Given the description of an element on the screen output the (x, y) to click on. 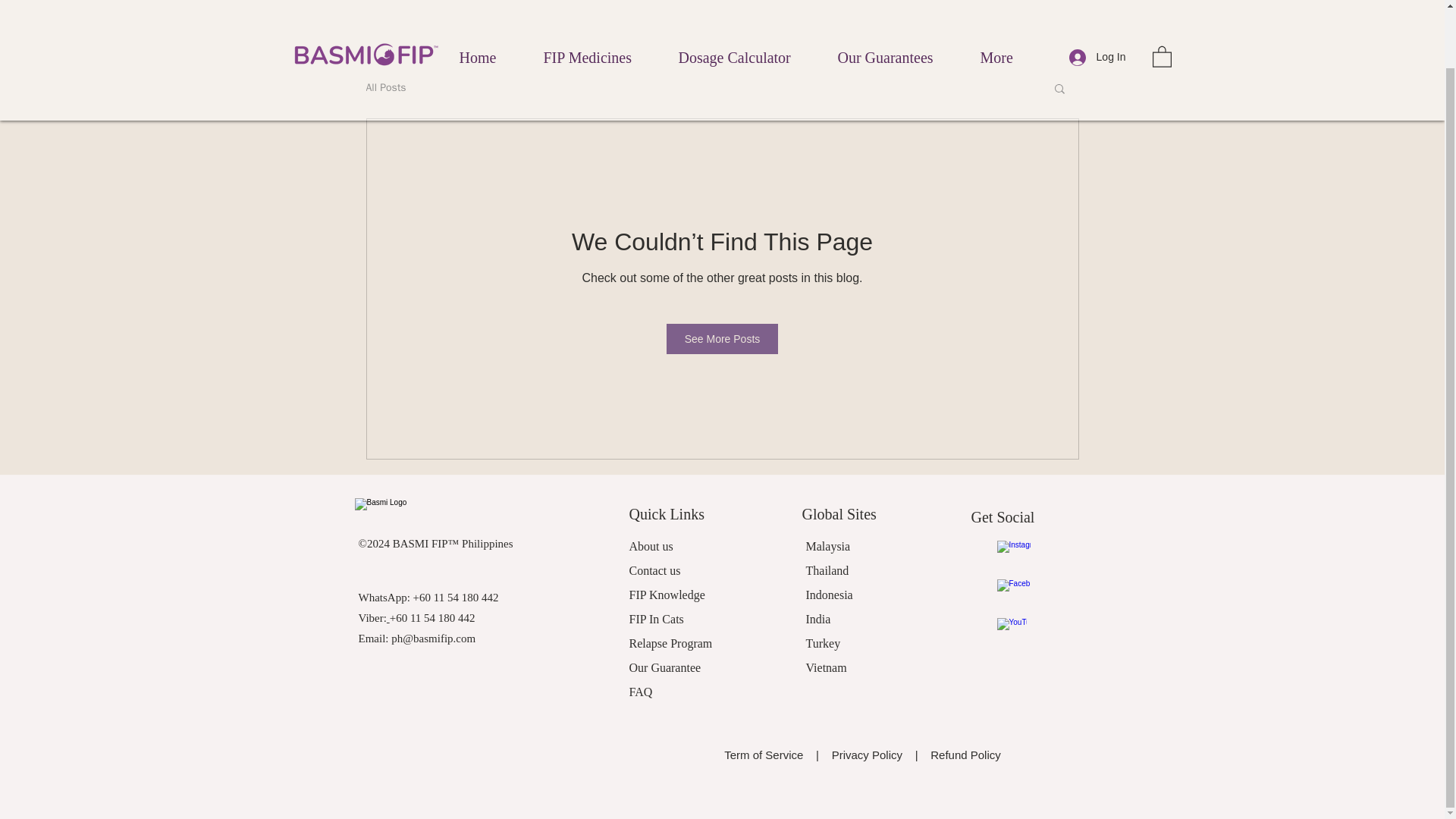
All Posts (385, 88)
FAQ (640, 691)
Privacy Policy (866, 754)
Indonesia (828, 594)
Term of Service   (766, 754)
Vietnam (825, 667)
Home (493, 2)
Log In (1097, 4)
2024 Basmi FIP Logo PNG-01.png (365, 1)
See More Posts (722, 338)
About us (650, 545)
2024 Basmi FIP Logo PNG-01.png (439, 513)
FIP In Cats (656, 618)
FIP Knowledge (666, 594)
India (817, 618)
